Given the description of an element on the screen output the (x, y) to click on. 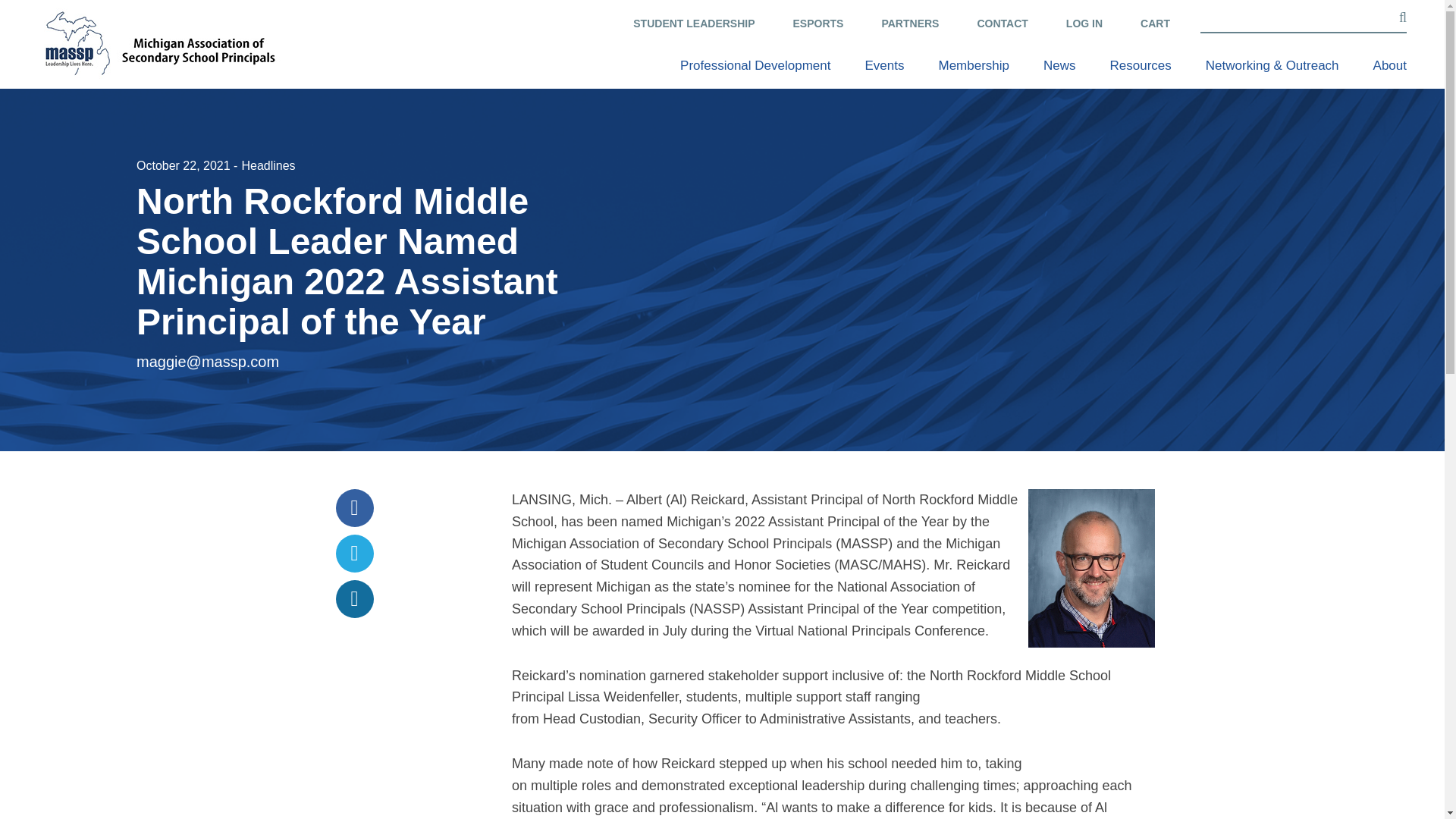
Join Michigan's only Varsity Esports League! (818, 23)
ESPORTS (818, 23)
LOG IN (1083, 23)
Professional Development (754, 65)
Membership (973, 65)
STUDENT LEADERSHIP (693, 23)
Resources (1140, 65)
PARTNERS (909, 23)
Search (34, 10)
Enter the terms you wish to search for. (1302, 16)
Home (159, 42)
Events (884, 65)
CONTACT (1001, 23)
